Given the description of an element on the screen output the (x, y) to click on. 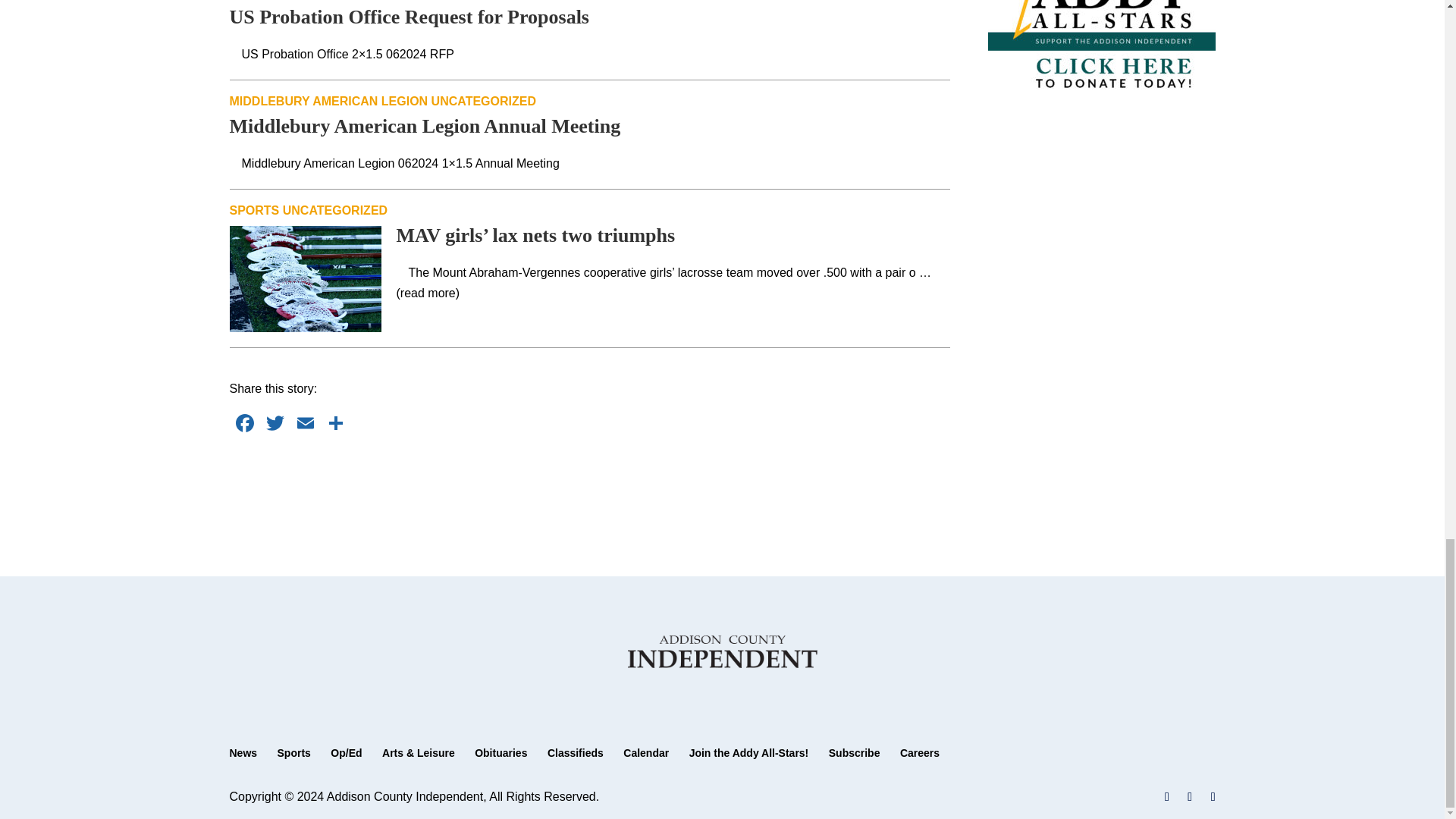
Twitter (274, 424)
3rd party ad content (590, 485)
Email (304, 424)
Facebook (243, 424)
